Given the description of an element on the screen output the (x, y) to click on. 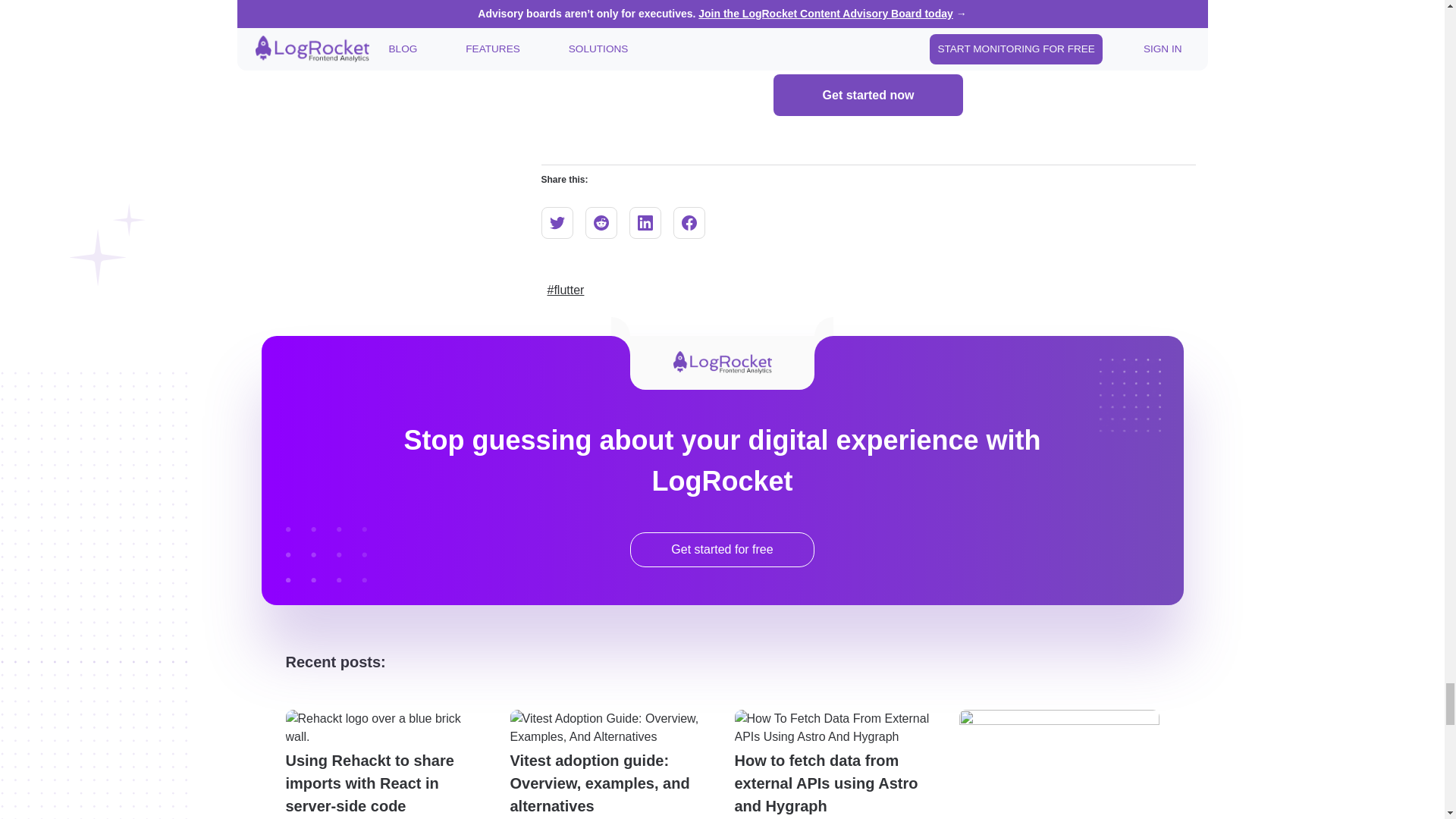
Click to share on Reddit (601, 223)
Click to share on LinkedIn (644, 223)
Click to share on Facebook (688, 223)
Click to share on Twitter (557, 223)
